Given the description of an element on the screen output the (x, y) to click on. 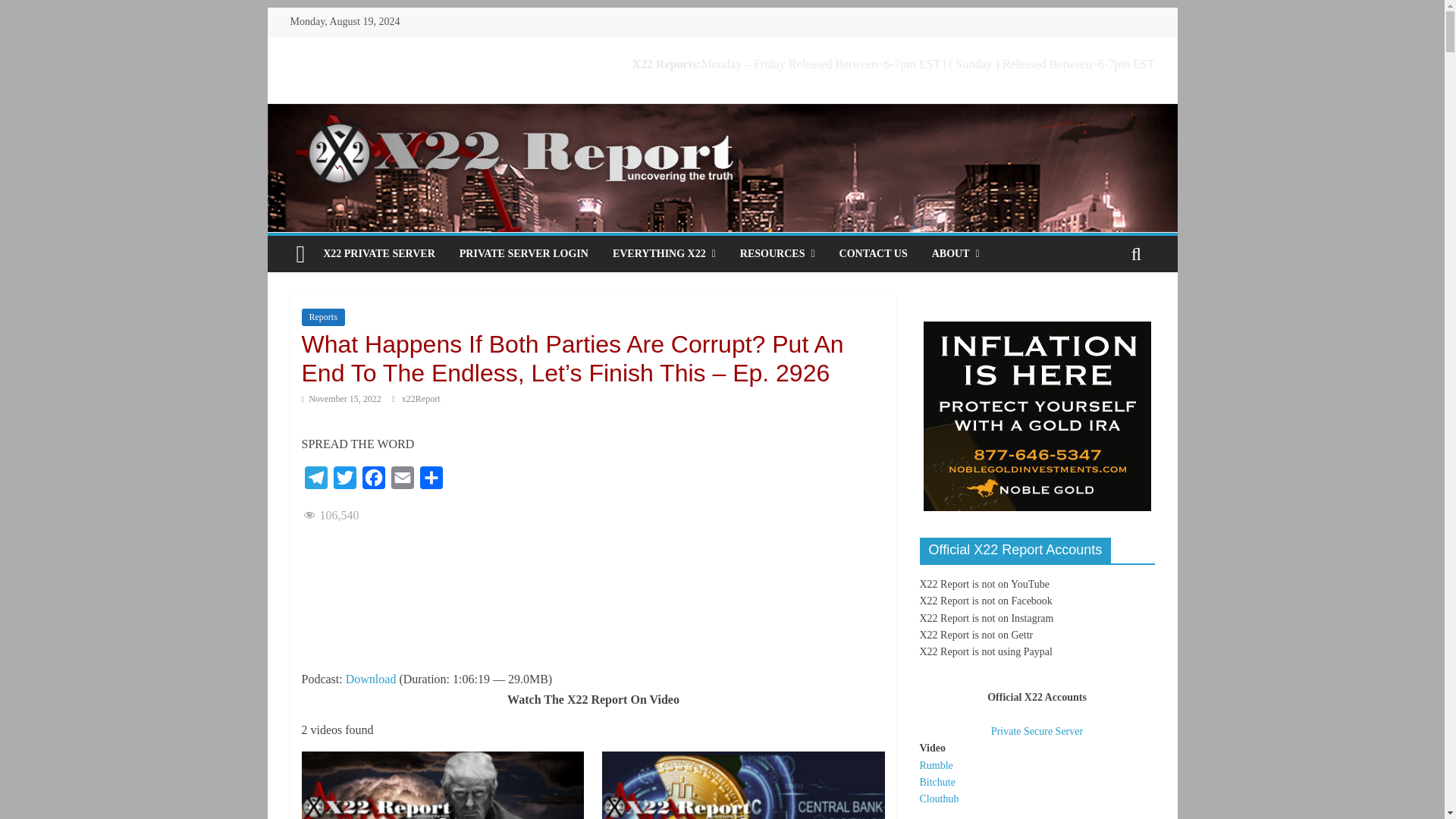
CONTACT US (873, 253)
ABOUT (955, 253)
RESOURCES (777, 253)
x22Report (421, 398)
Share (430, 481)
X22 PRIVATE SERVER (378, 253)
Reports (323, 316)
7:14 pm (341, 398)
Telegram (315, 481)
EVERYTHING X22 (663, 253)
